Given the description of an element on the screen output the (x, y) to click on. 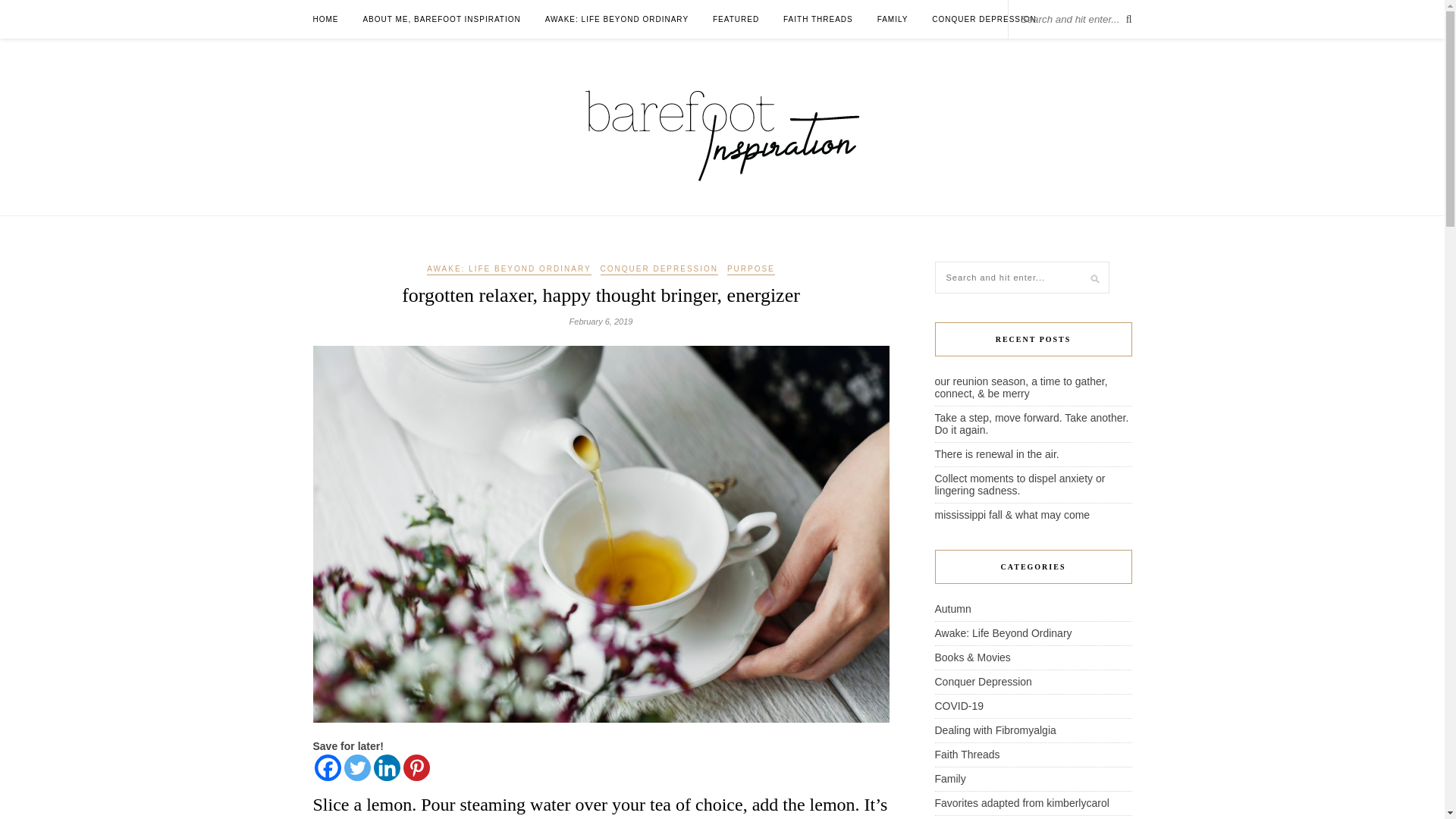
FAITH THREADS (818, 19)
Facebook (327, 767)
PURPOSE (750, 269)
CONQUER DEPRESSION (983, 19)
AWAKE: LIFE BEYOND ORDINARY (508, 269)
Linkedin (385, 767)
FEATURED (735, 19)
AWAKE: LIFE BEYOND ORDINARY (616, 19)
View all posts in Purpose (750, 269)
View all posts in Awake: Life Beyond Ordinary (508, 269)
Pinterest (416, 767)
Twitter (357, 767)
ABOUT ME, BAREFOOT INSPIRATION (440, 19)
CONQUER DEPRESSION (658, 269)
View all posts in Conquer Depression (658, 269)
